Given the description of an element on the screen output the (x, y) to click on. 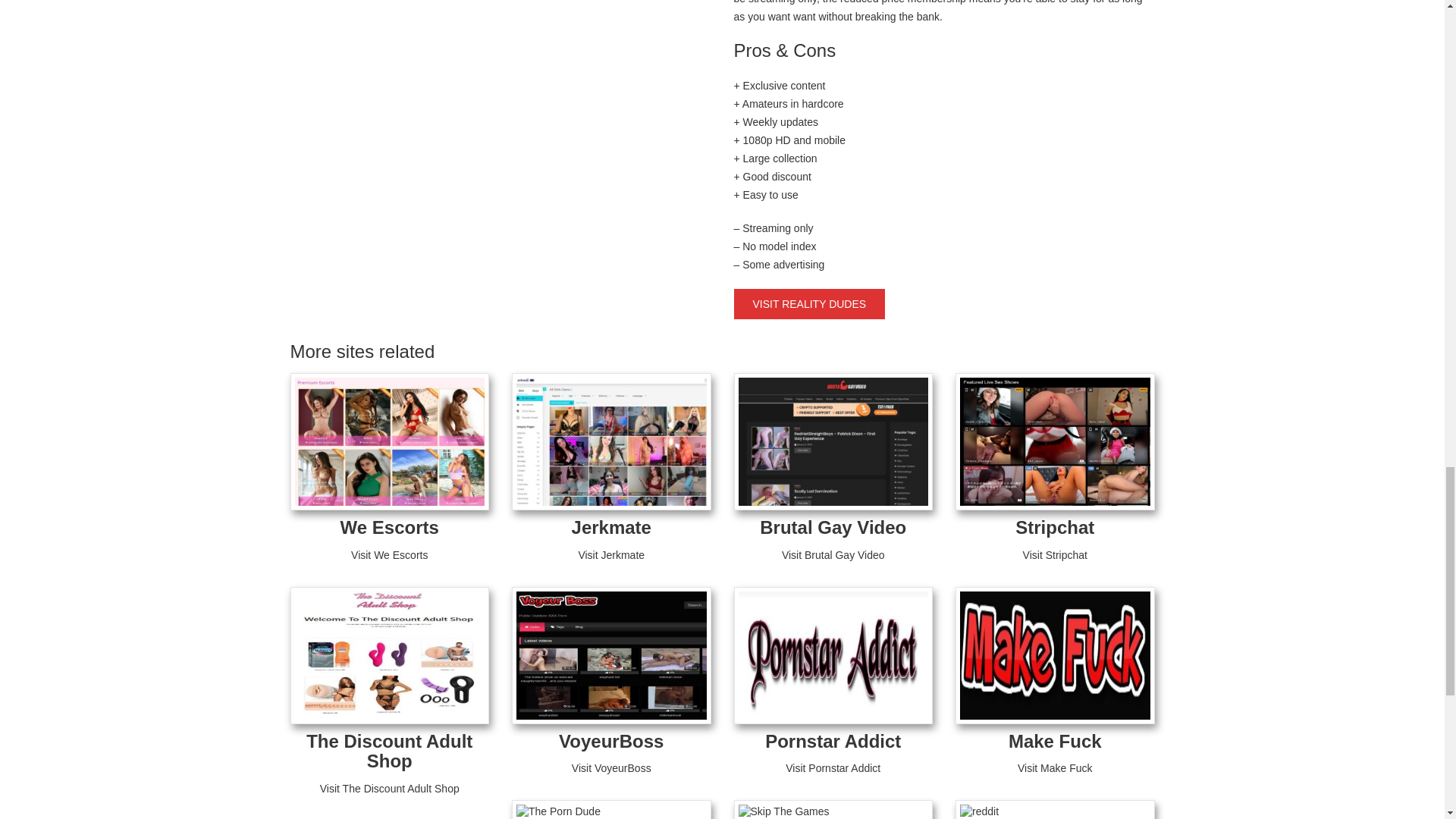
Visit VoyeurBoss (611, 767)
Visit Pornstar Addict (833, 767)
Pornstar Addict (833, 741)
Visit Brutal Gay Video (833, 554)
Visit We Escorts (389, 554)
Make Fuck (1055, 741)
Stripchat (1054, 526)
Brutal Gay Video (832, 526)
Visit The Discount Adult Shop (390, 788)
VISIT REALITY DUDES (809, 304)
We Escorts (389, 526)
Visit Jerkmate (611, 554)
Jerkmate (611, 526)
Visit Stripchat (1055, 554)
Visit Make Fuck (1055, 767)
